Given the description of an element on the screen output the (x, y) to click on. 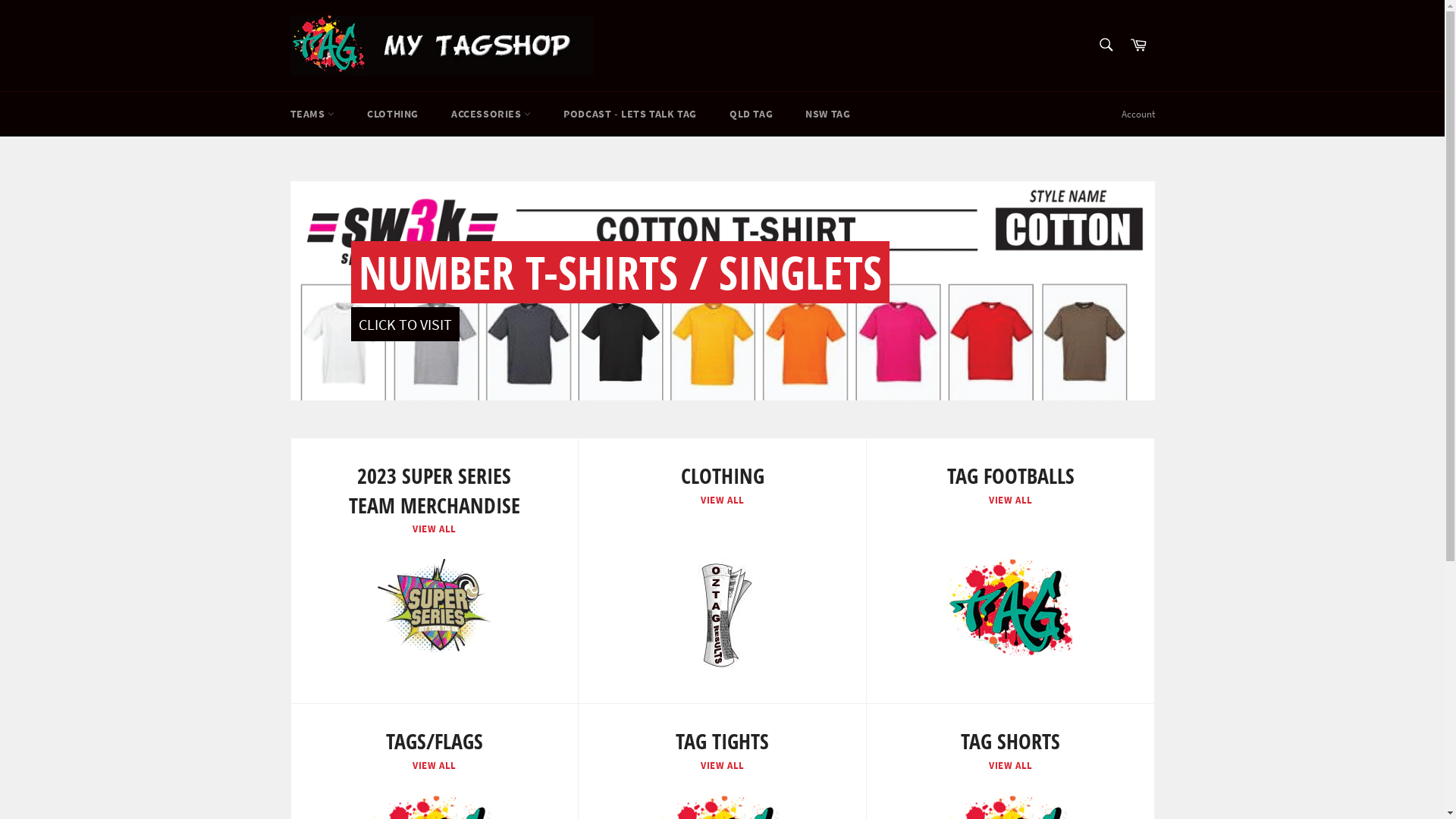
Search Element type: text (1105, 44)
Cart Element type: text (1138, 45)
NSW TAG Element type: text (827, 113)
PODCAST - LETS TALK TAG Element type: text (630, 113)
CLOTHING
VIEW ALL Element type: text (721, 570)
CLICK TO VISIT Element type: text (404, 324)
TEAMS Element type: text (311, 113)
CLOTHING Element type: text (392, 113)
TAG FOOTBALLS
VIEW ALL Element type: text (1010, 570)
NUMBER T-SHIRTS / SINGLETS Element type: text (619, 272)
QLD TAG Element type: text (750, 113)
Account Element type: text (1137, 114)
2023 SUPER SERIES TEAM MERCHANDISE
VIEW ALL Element type: text (433, 570)
ACCESSORIES Element type: text (491, 113)
